Given the description of an element on the screen output the (x, y) to click on. 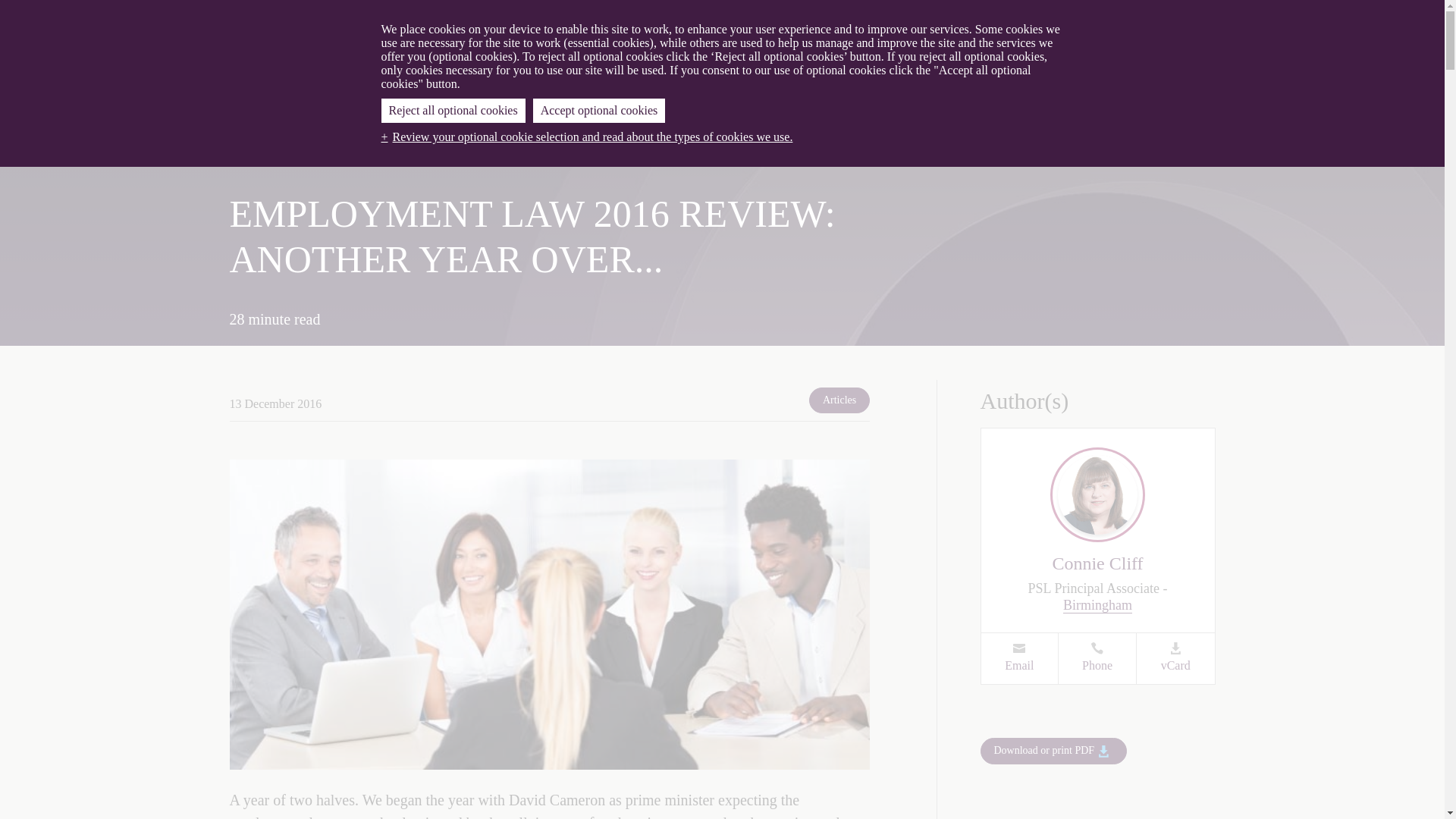
News (1106, 18)
Gowling WLG (330, 72)
Topics (686, 133)
About us (854, 18)
Careers (917, 18)
Global reach (778, 133)
Events (465, 133)
People (250, 133)
Submit search (1188, 74)
Sectors (320, 133)
Offices (373, 18)
Services (1180, 18)
